Given the description of an element on the screen output the (x, y) to click on. 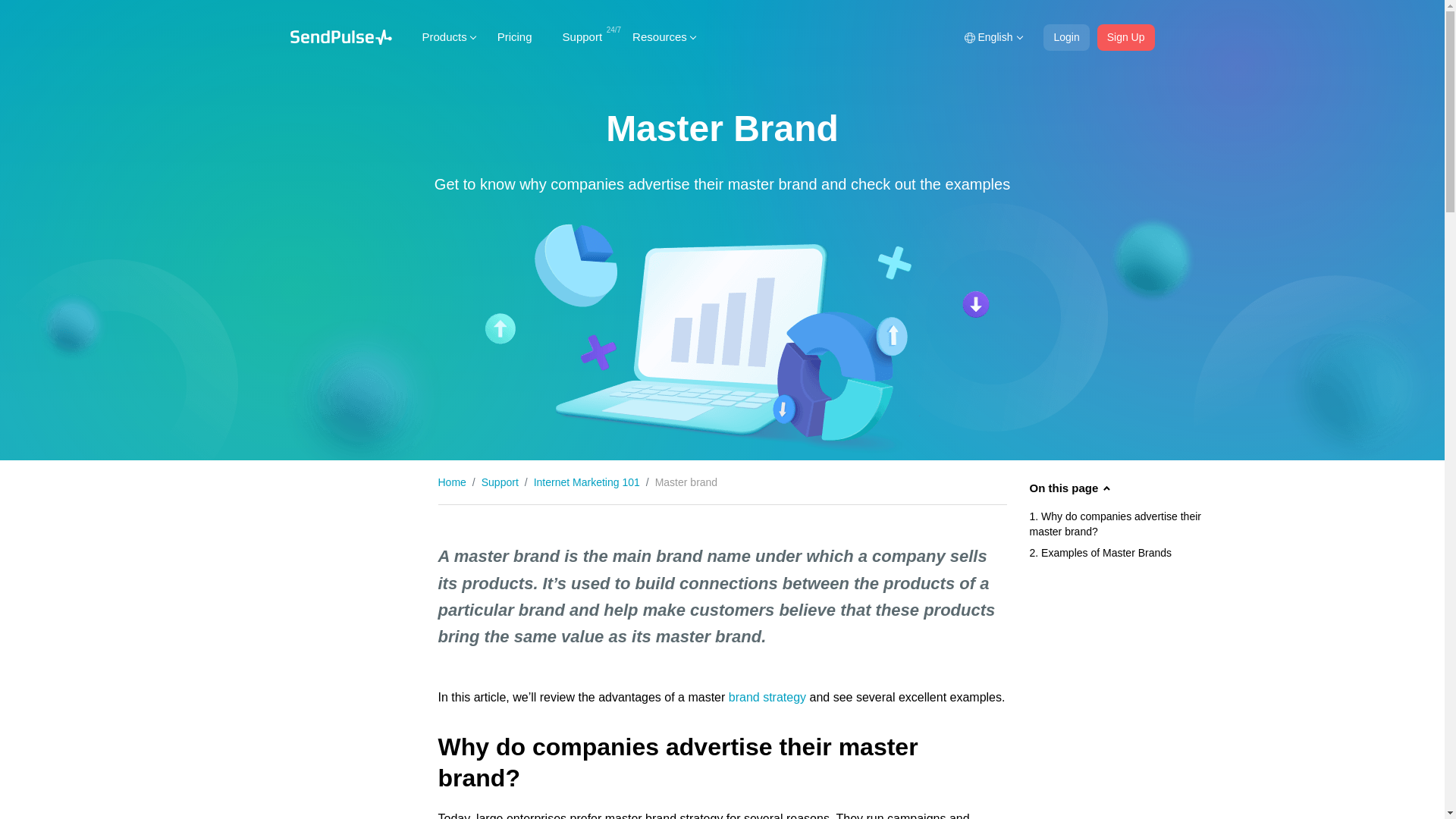
Support (582, 36)
Products (443, 36)
English (991, 37)
Login (1066, 37)
English (991, 37)
Pricing (514, 36)
Resources (659, 36)
